Given the description of an element on the screen output the (x, y) to click on. 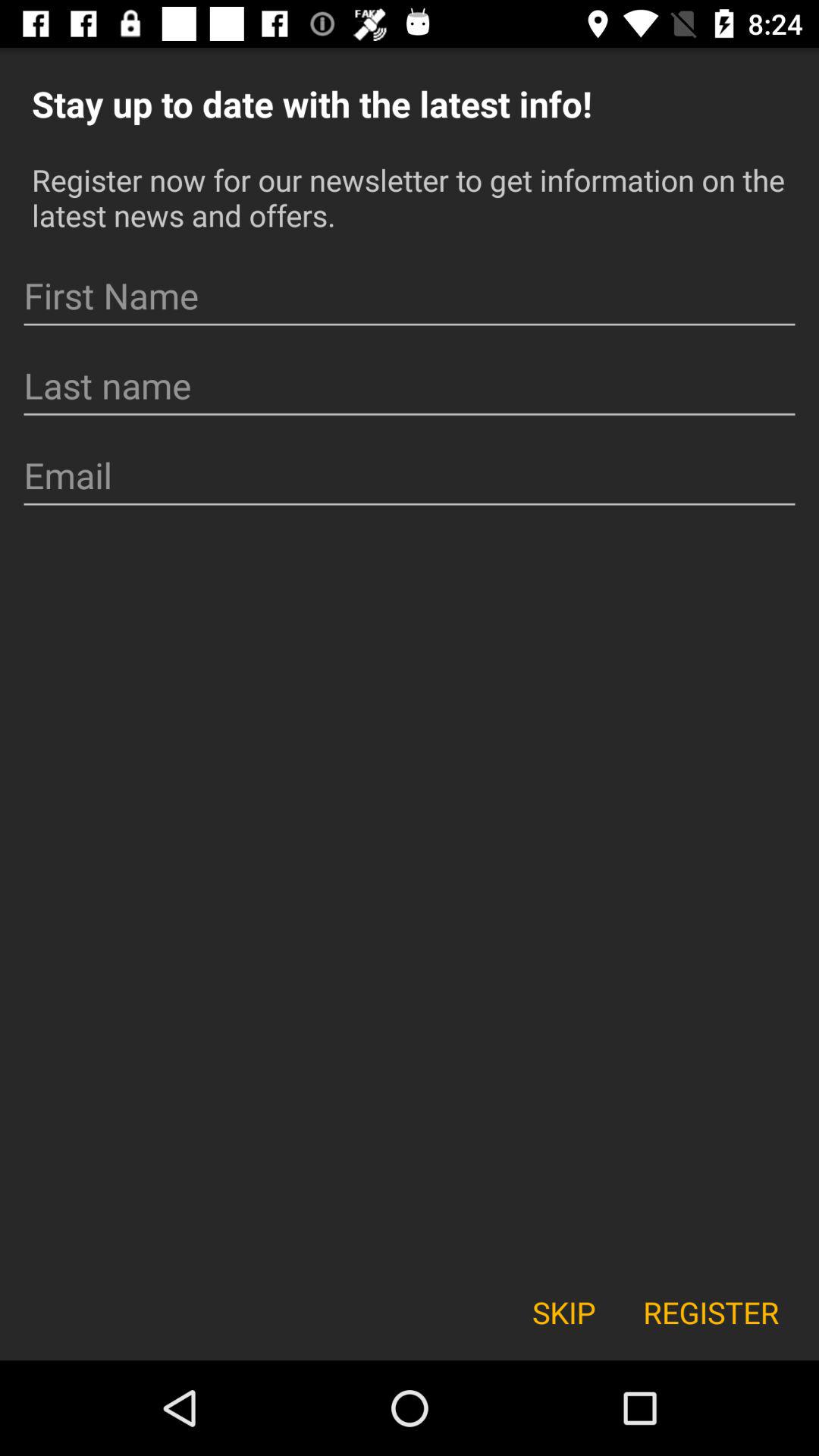
jump to skip icon (563, 1312)
